Given the description of an element on the screen output the (x, y) to click on. 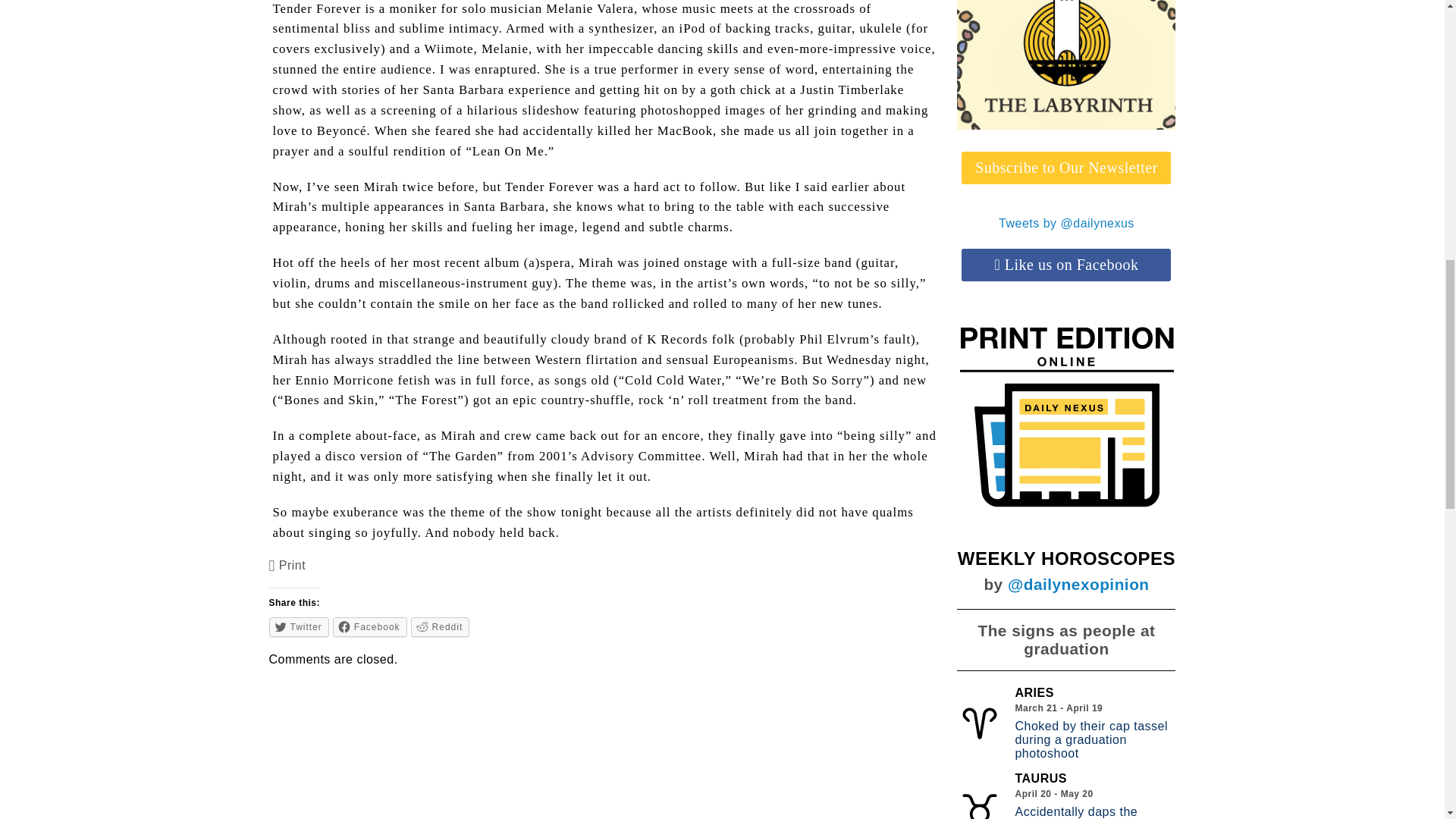
Click to share on Twitter (299, 627)
Click to share on Facebook (370, 627)
Click to share on Reddit (440, 627)
